Given the description of an element on the screen output the (x, y) to click on. 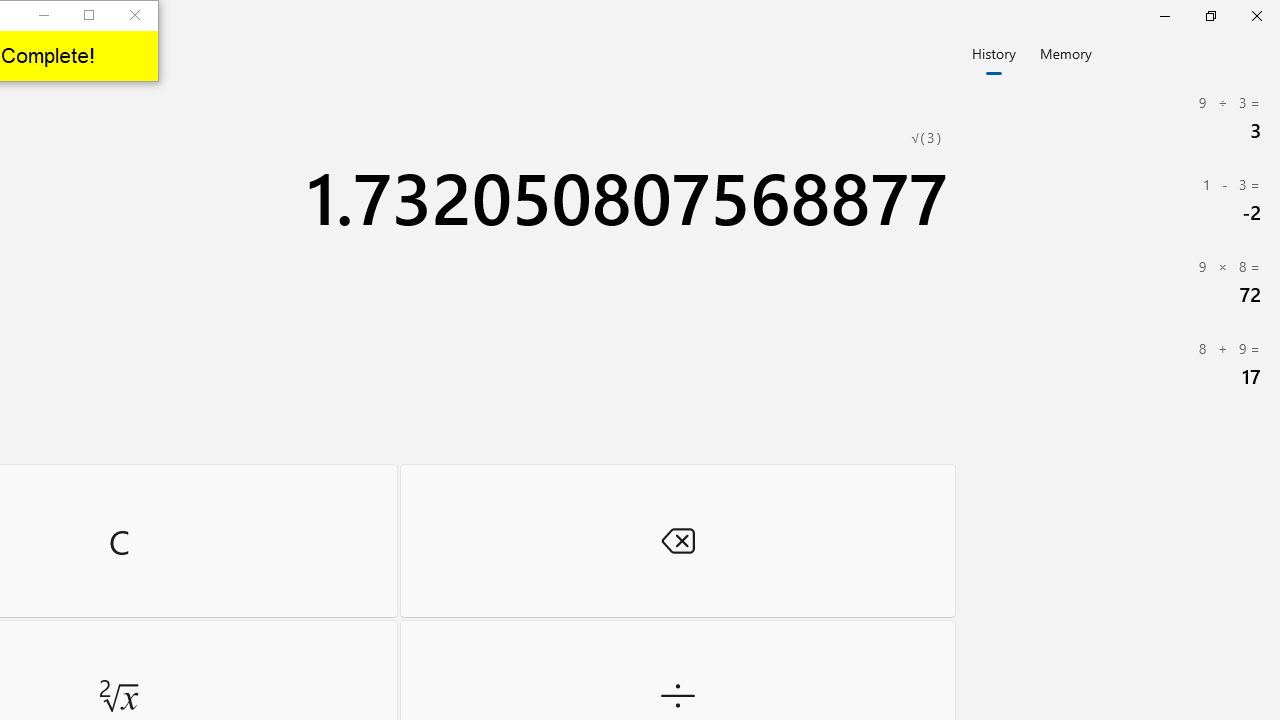
Minimize Calculator (1164, 15)
8 + 9= 17 (1119, 363)
Restore Calculator (1210, 15)
1 Minus ( 3= Minus (2 (1119, 200)
Backspace (677, 540)
Close Calculator (1256, 15)
History (993, 52)
